Given the description of an element on the screen output the (x, y) to click on. 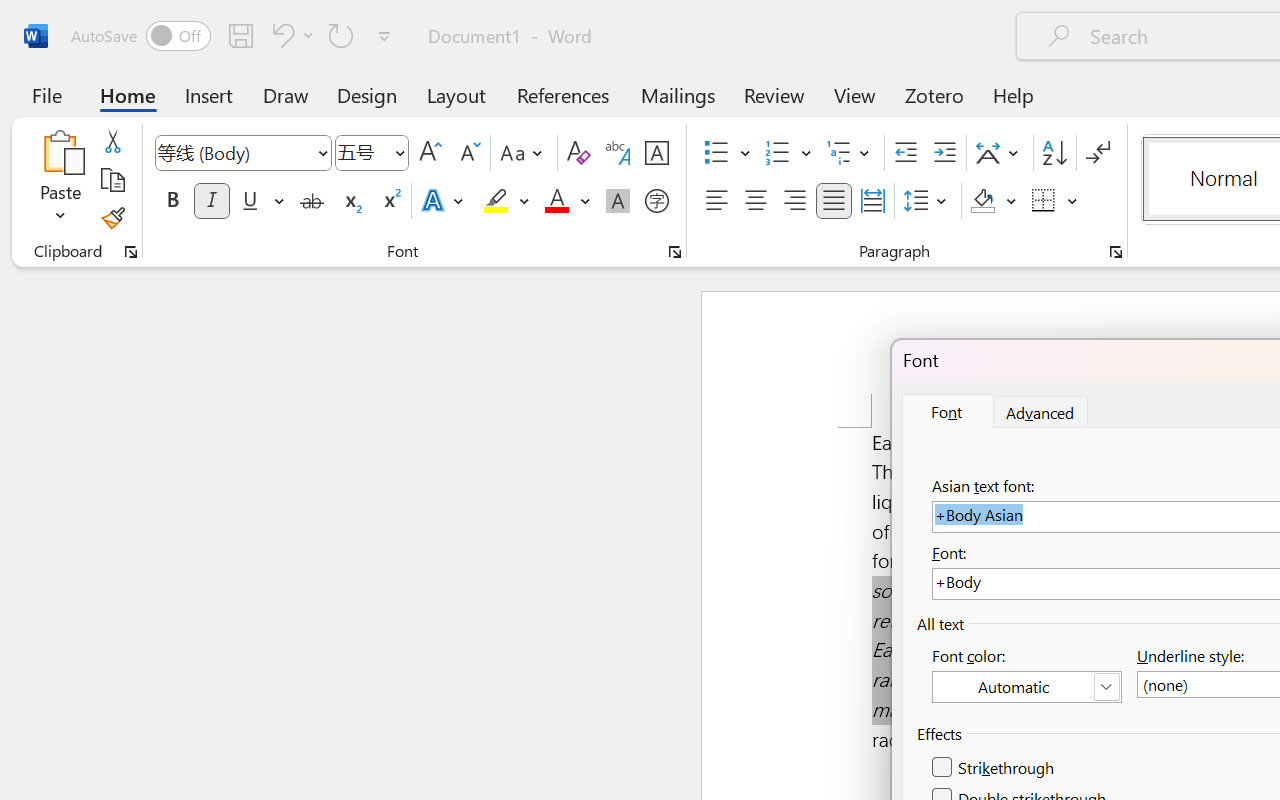
Justify (834, 201)
Strikethrough (312, 201)
Sort... (1054, 153)
Paragraph... (1115, 252)
Text Highlight Color Yellow (495, 201)
Align Right (794, 201)
